Given the description of an element on the screen output the (x, y) to click on. 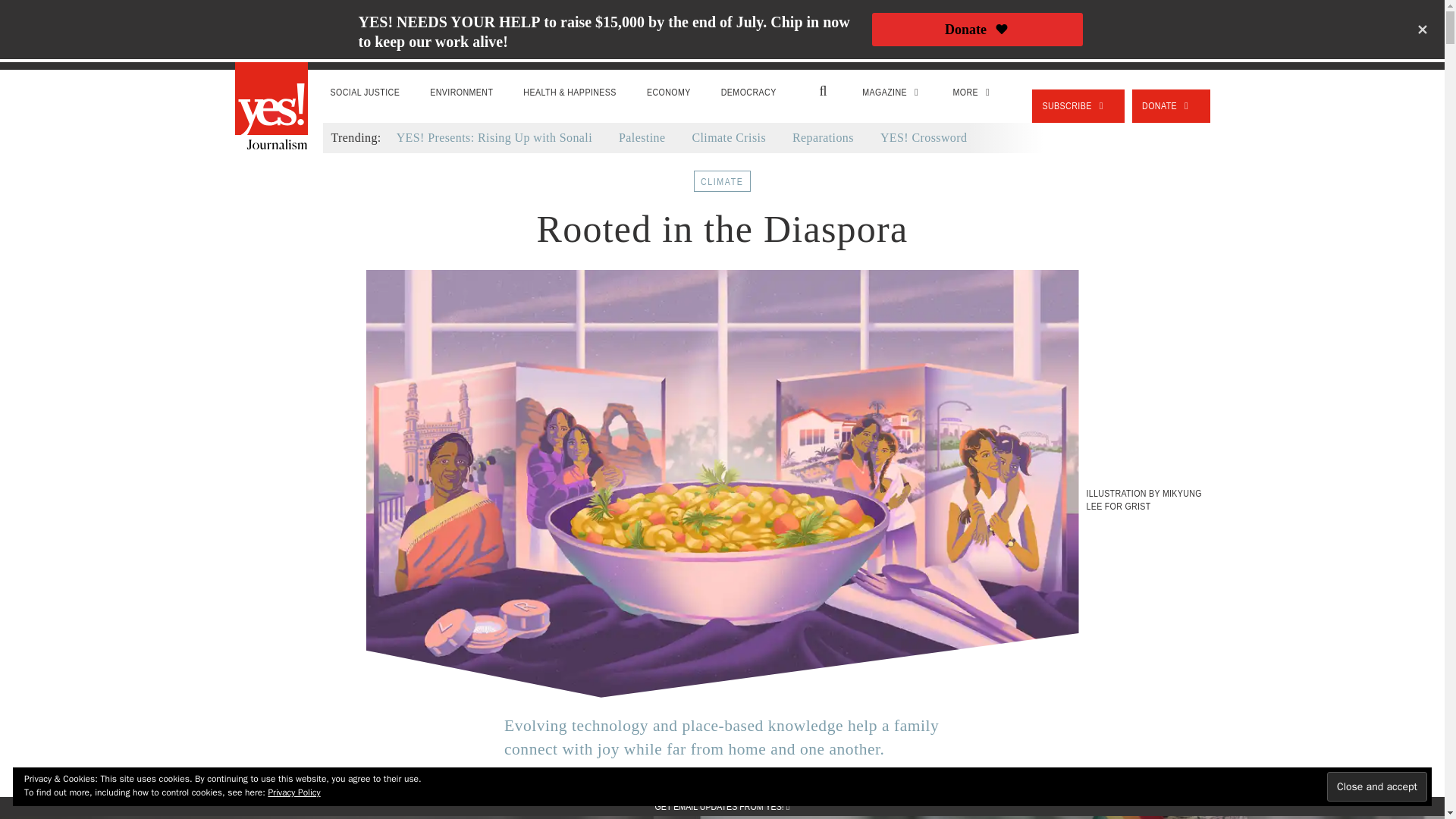
SUBSCRIBE (1078, 105)
DONATE (1170, 105)
ENVIRONMENT (461, 92)
ECONOMY (668, 92)
DEMOCRACY (749, 92)
MORE (973, 92)
MAGAZINE (892, 92)
Close and accept (1376, 786)
SOCIAL JUSTICE (364, 92)
